Given the description of an element on the screen output the (x, y) to click on. 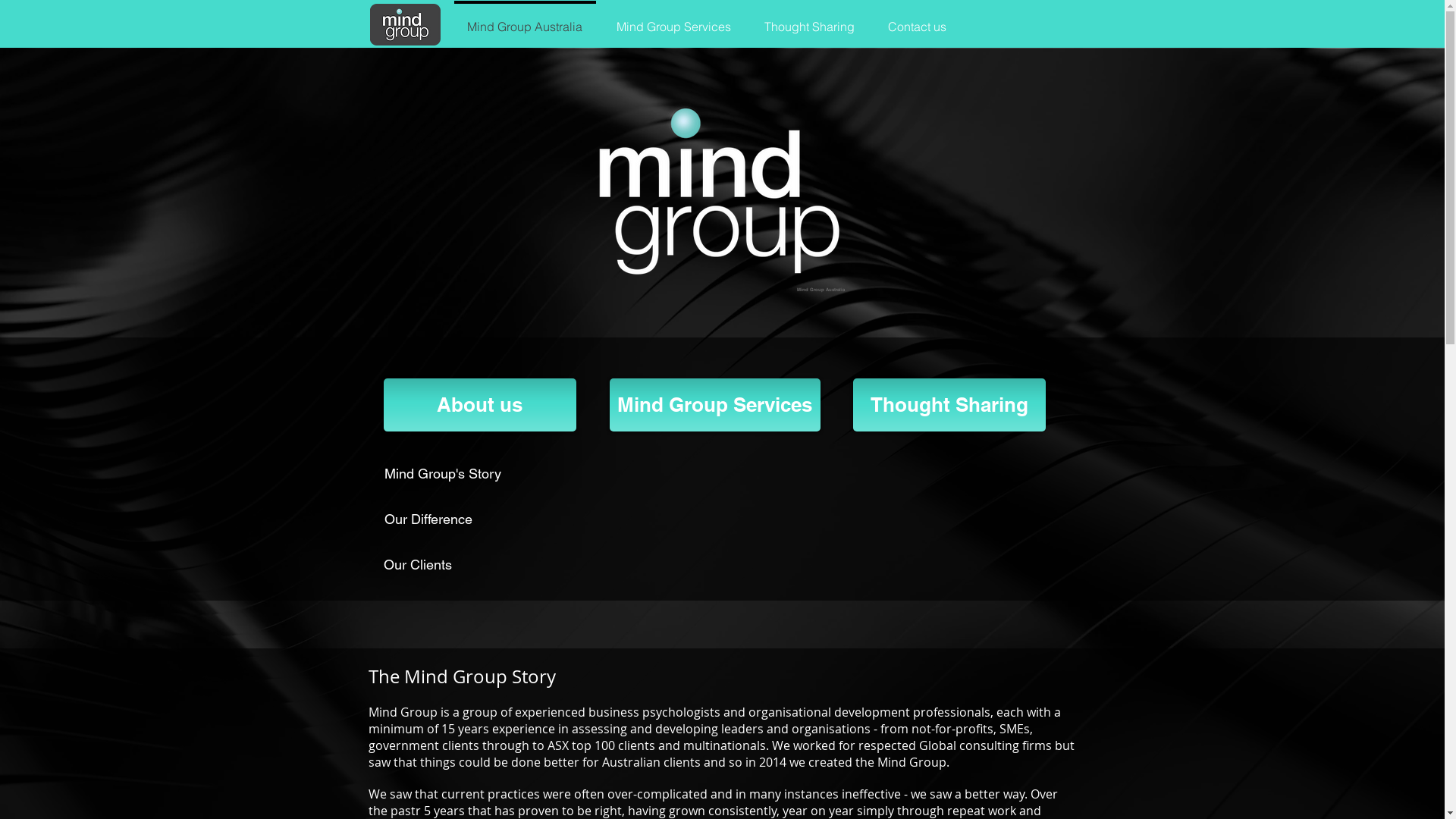
Mind Group Australia Element type: hover (716, 191)
Thought Sharing Element type: text (809, 19)
About us Element type: text (479, 404)
Contact us Element type: text (916, 19)
Our Clients Element type: text (441, 564)
Mind Group Services Element type: text (714, 404)
Our Difference Element type: text (456, 519)
Thought Sharing Element type: text (948, 404)
Mind Group Services Element type: text (672, 19)
Mind Group's Story Element type: text (456, 473)
Mind Group Australia Element type: hover (405, 24)
Mind Group Australia Element type: text (524, 19)
